Given the description of an element on the screen output the (x, y) to click on. 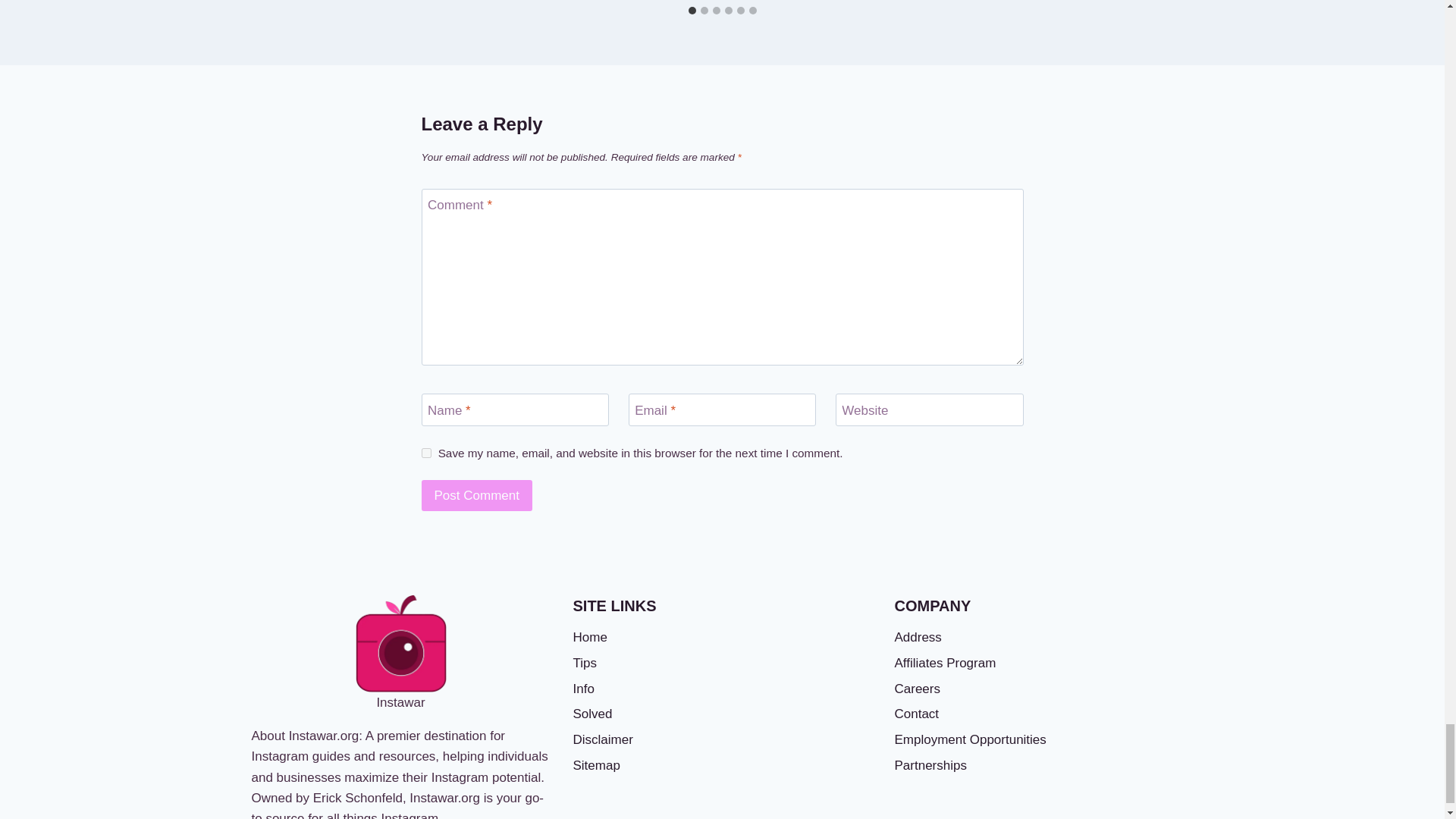
Post Comment (477, 495)
yes (426, 452)
